Given the description of an element on the screen output the (x, y) to click on. 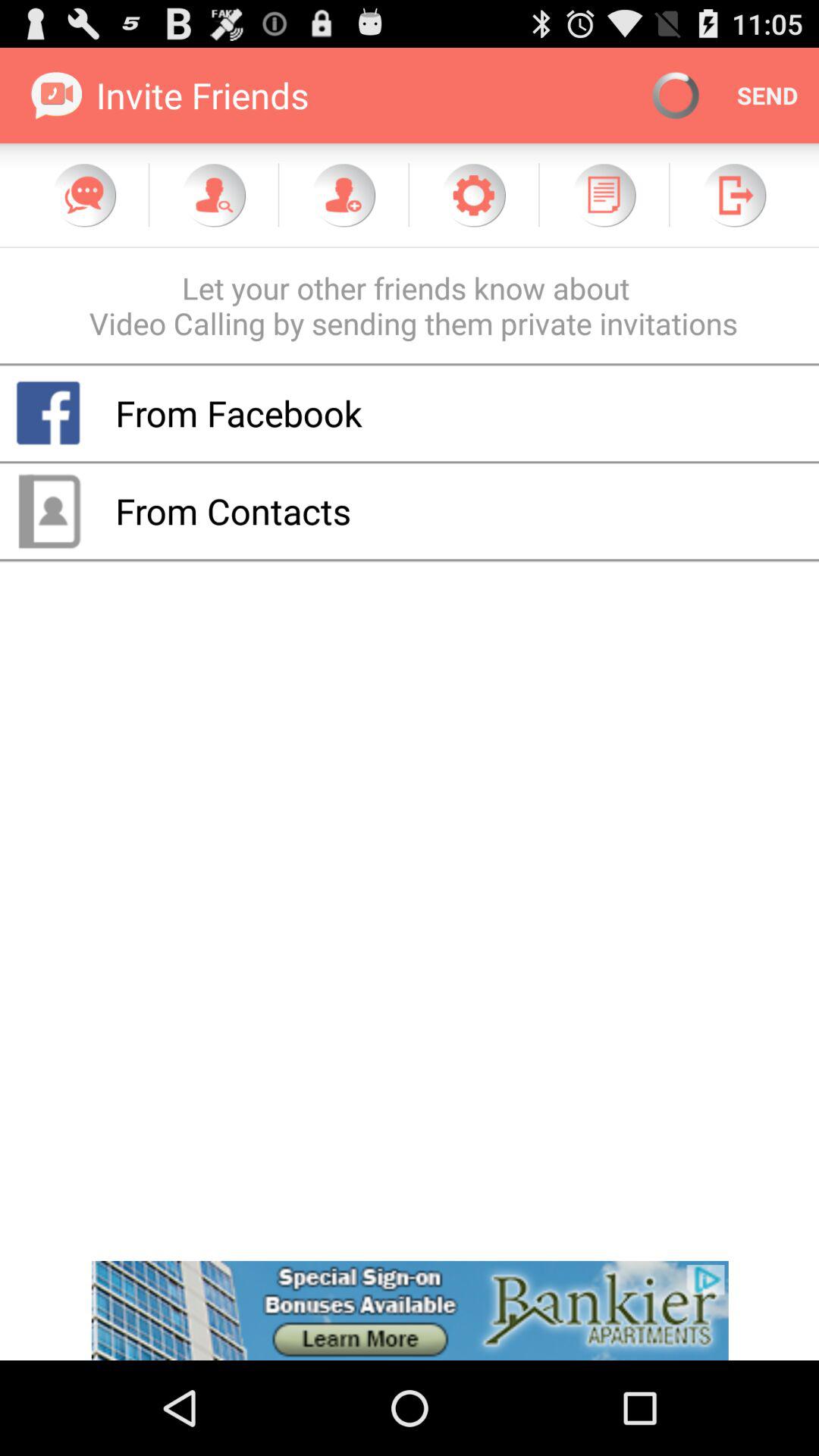
switch messaging option (84, 194)
